Given the description of an element on the screen output the (x, y) to click on. 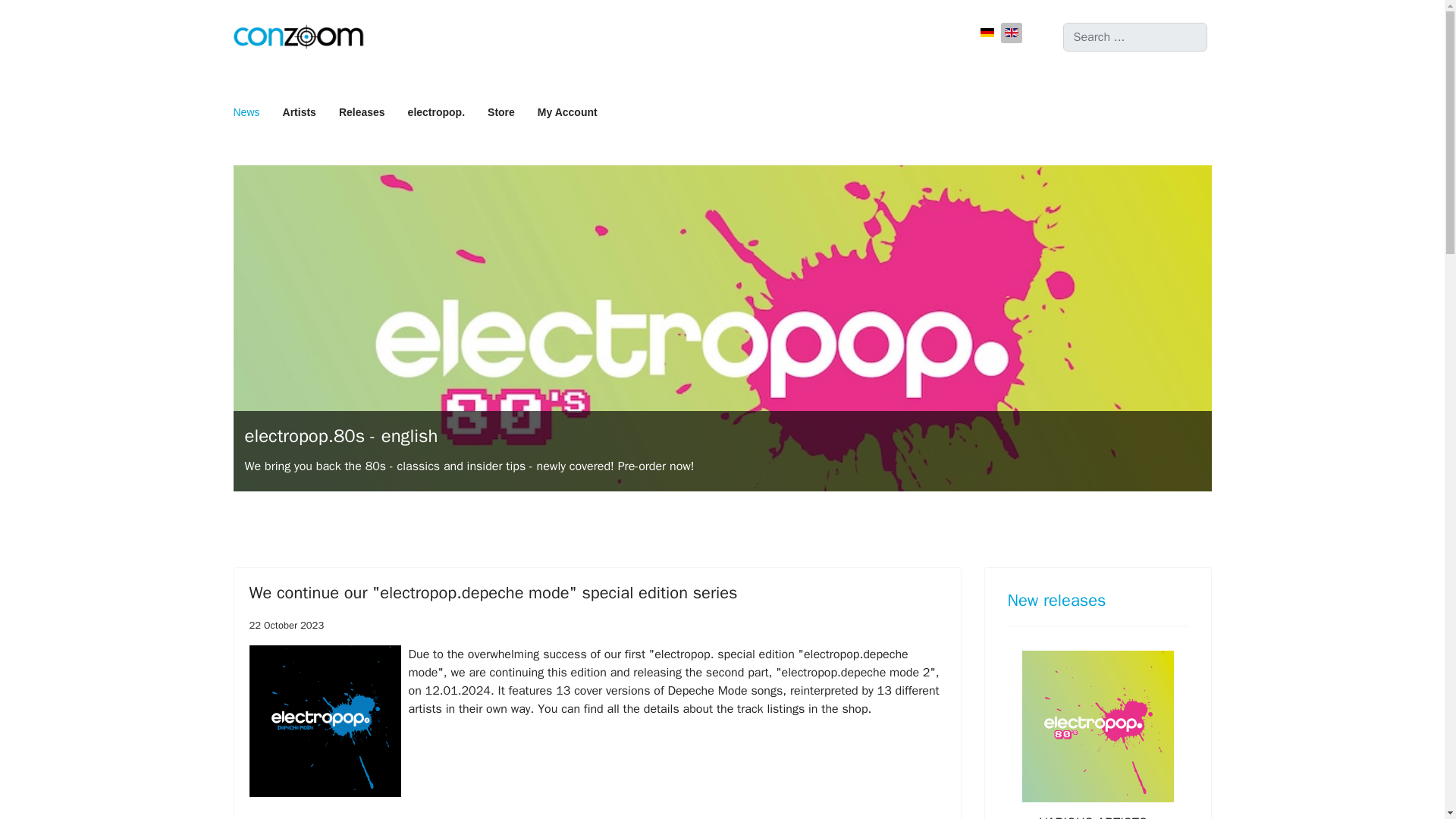
electropop.80s - english (341, 436)
VARIOUS ARTISTS - electropop.80s (1097, 816)
Published: 22 October 2023 (285, 625)
My Account (560, 111)
Releases (361, 111)
electropop. (436, 111)
